Given the description of an element on the screen output the (x, y) to click on. 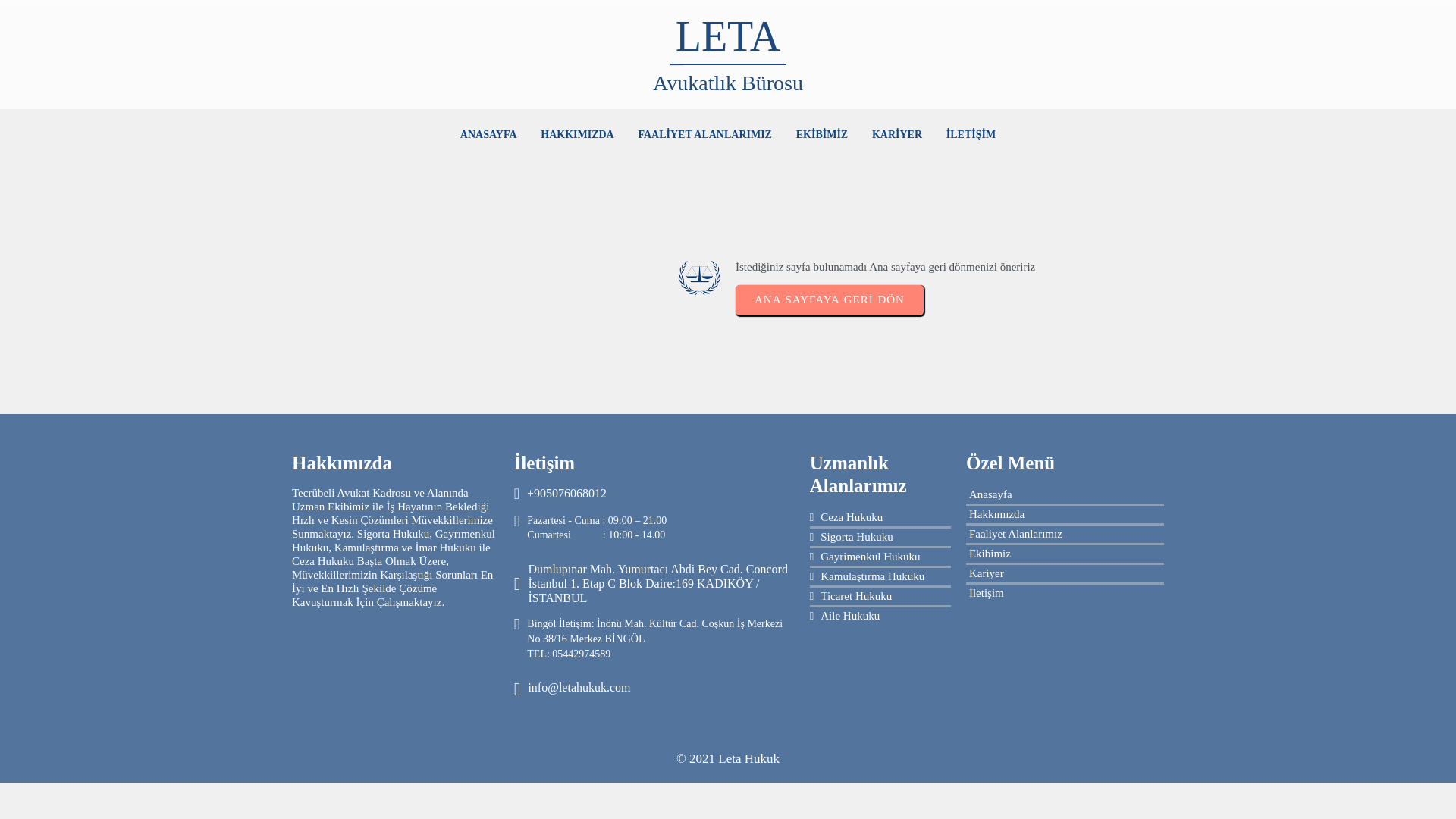
ANASAYFA (488, 134)
EKIBIMIZ (822, 134)
KARIYER (897, 134)
Ekibimiz (1064, 553)
logo (699, 277)
HAKKIMIZDA (576, 134)
FAALIYET ALANLARIMIZ (704, 134)
Kariyer (1064, 573)
Anasayfa (1064, 494)
